Given the description of an element on the screen output the (x, y) to click on. 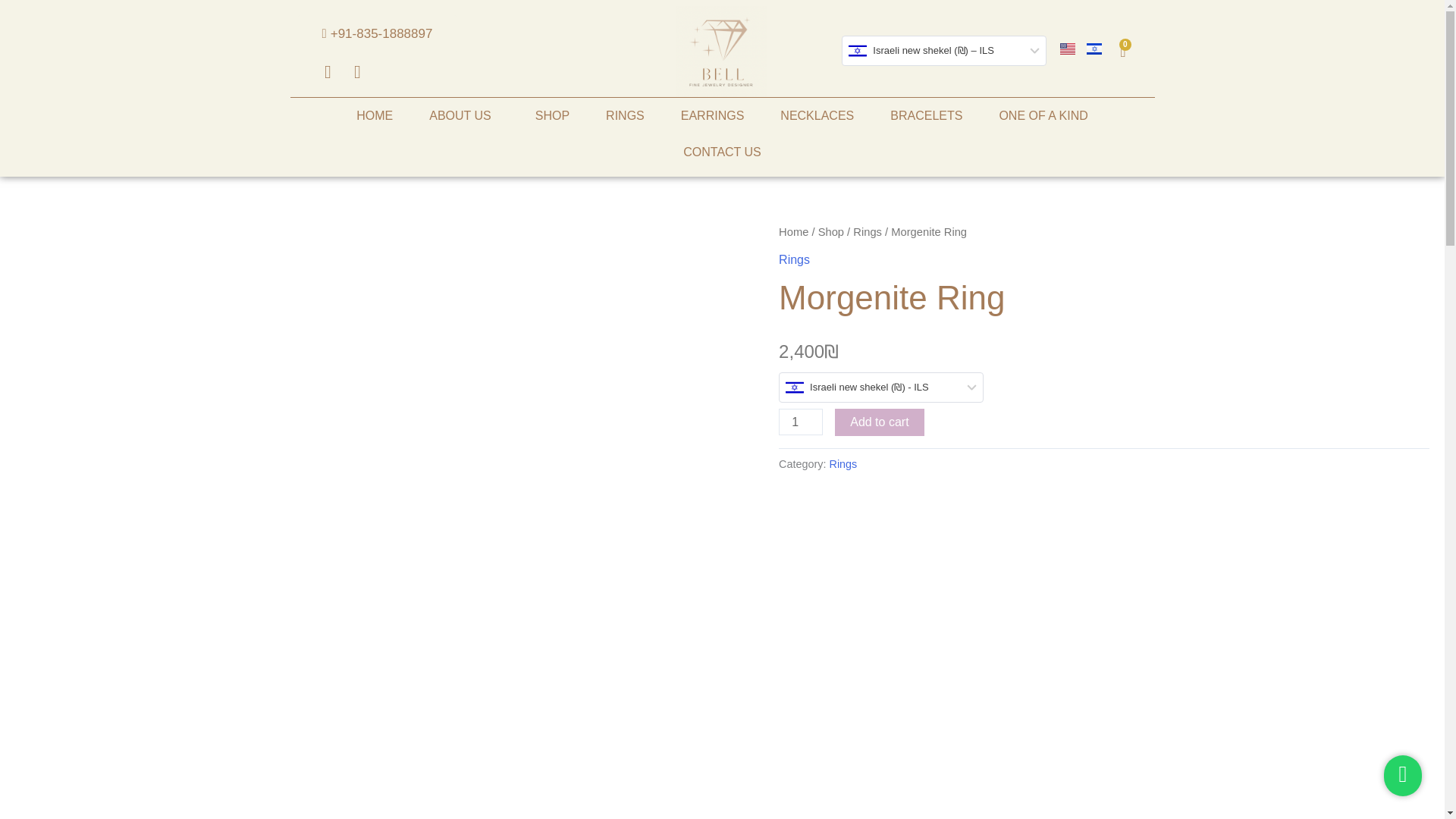
Facebook (329, 74)
1 (800, 421)
ABOUT US (463, 115)
CONTACT US (721, 152)
RINGS (625, 115)
Rings (867, 232)
EARRINGS (712, 115)
Rings (793, 259)
ONE OF A KIND (1042, 115)
Shop (831, 232)
